Given the description of an element on the screen output the (x, y) to click on. 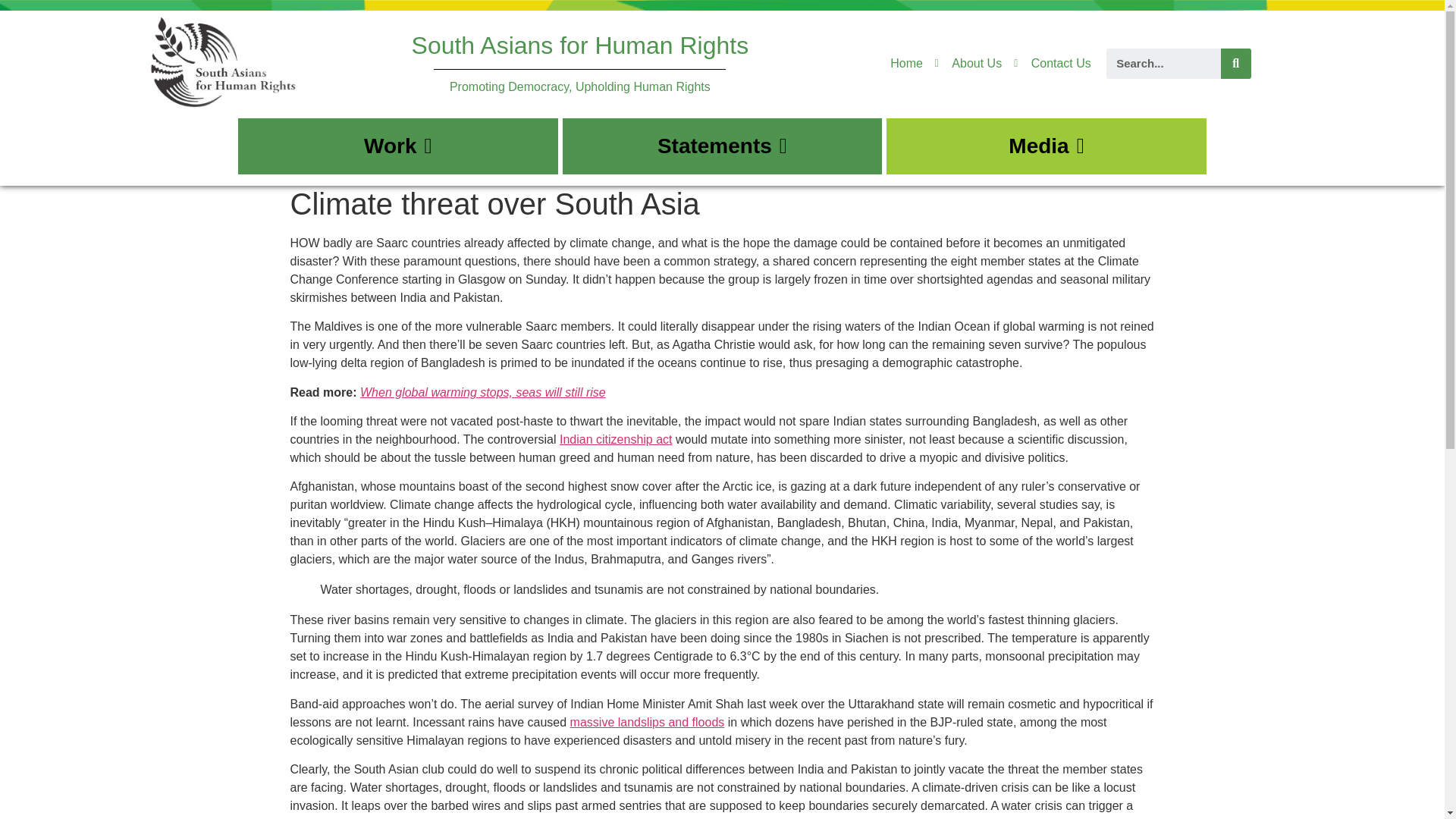
Search (1163, 63)
Contact Us (1051, 63)
About Us (967, 63)
Search (1235, 63)
Home (906, 63)
Work (398, 146)
Statements (722, 146)
